Given the description of an element on the screen output the (x, y) to click on. 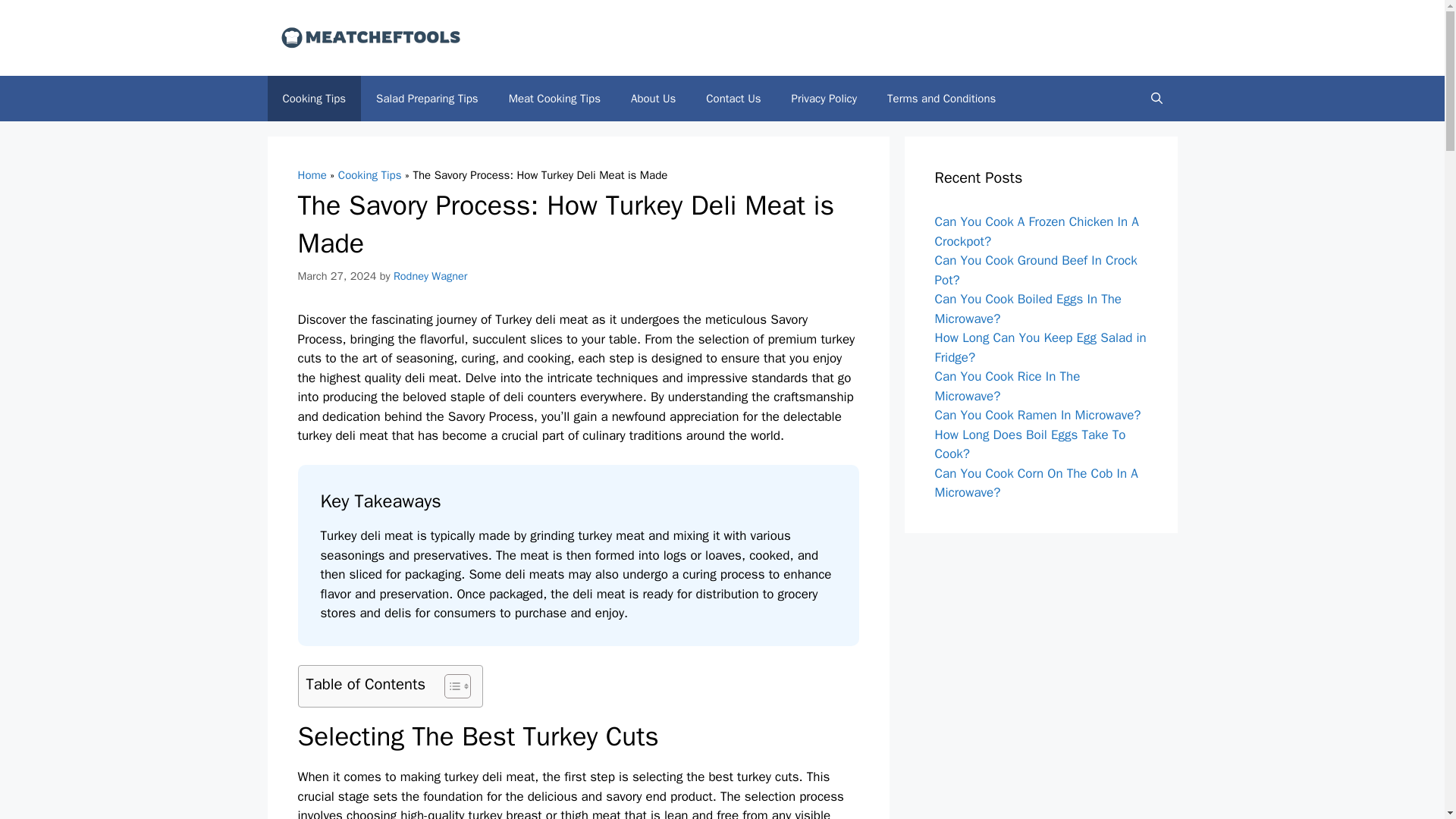
Salad Preparing Tips (427, 98)
Rodney Wagner (430, 274)
View all posts by Rodney Wagner (430, 274)
Can You Cook Ramen In Microwave? (1037, 415)
How Long Can You Keep Egg Salad in Fridge? (1039, 347)
Can You Cook A Frozen Chicken In A Crockpot? (1036, 231)
Terms and Conditions (941, 98)
Can You Cook Rice In The Microwave? (1007, 386)
Can You Cook Corn On The Cob In A Microwave? (1035, 483)
About Us (652, 98)
